Given the description of an element on the screen output the (x, y) to click on. 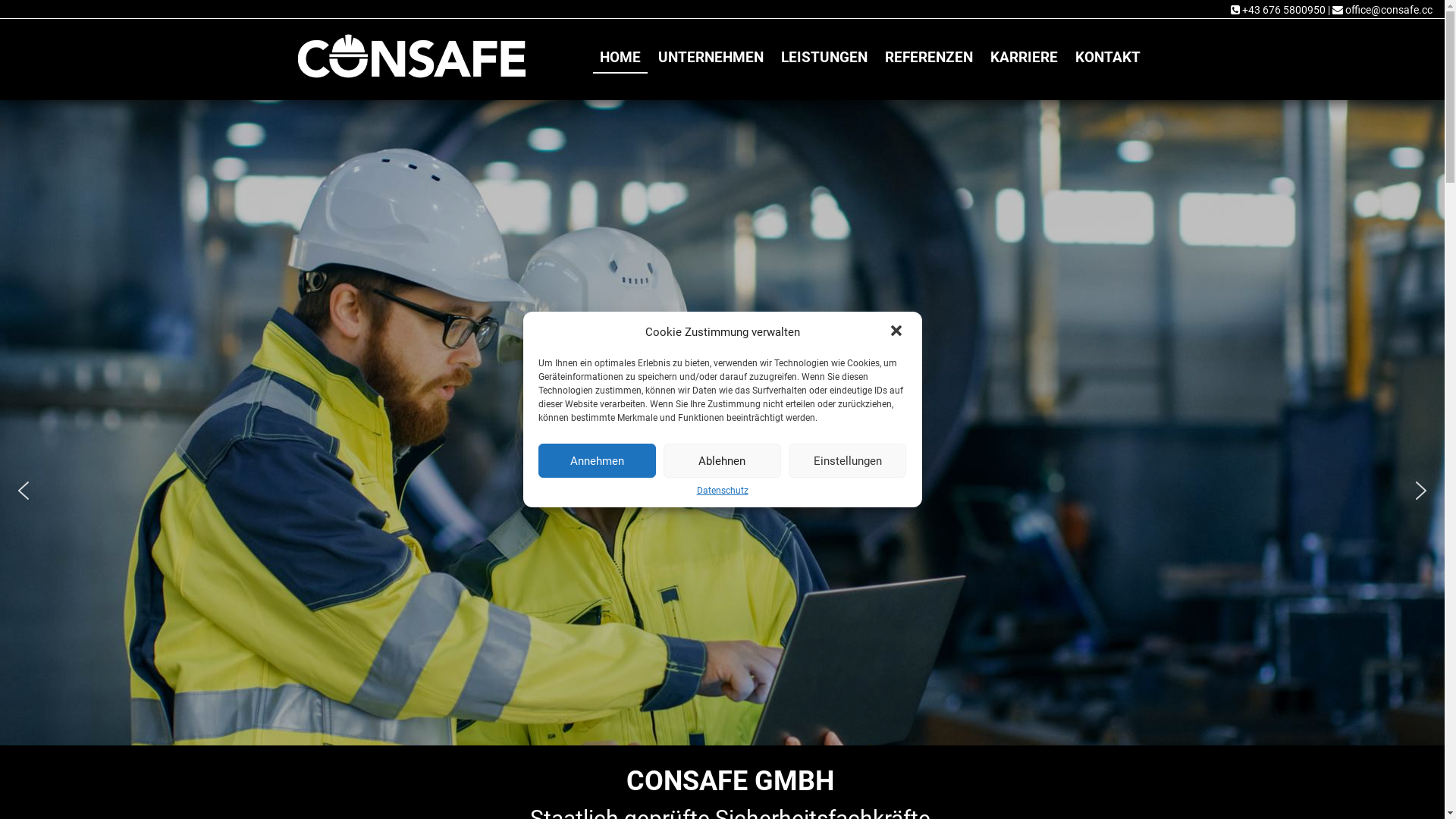
Datenschutz Element type: text (721, 490)
KARRIERE Element type: text (1022, 57)
Einstellungen Element type: text (847, 460)
+43 676 5800950 Element type: text (1278, 9)
Annehmen Element type: text (596, 460)
HOME Element type: text (620, 57)
office@consafe.cc Element type: text (1382, 9)
LEISTUNGEN Element type: text (823, 57)
UNTERNEHMEN Element type: text (709, 57)
REFERENZEN Element type: text (928, 57)
KONTAKT Element type: text (1106, 57)
Ablehnen Element type: text (722, 460)
